Given the description of an element on the screen output the (x, y) to click on. 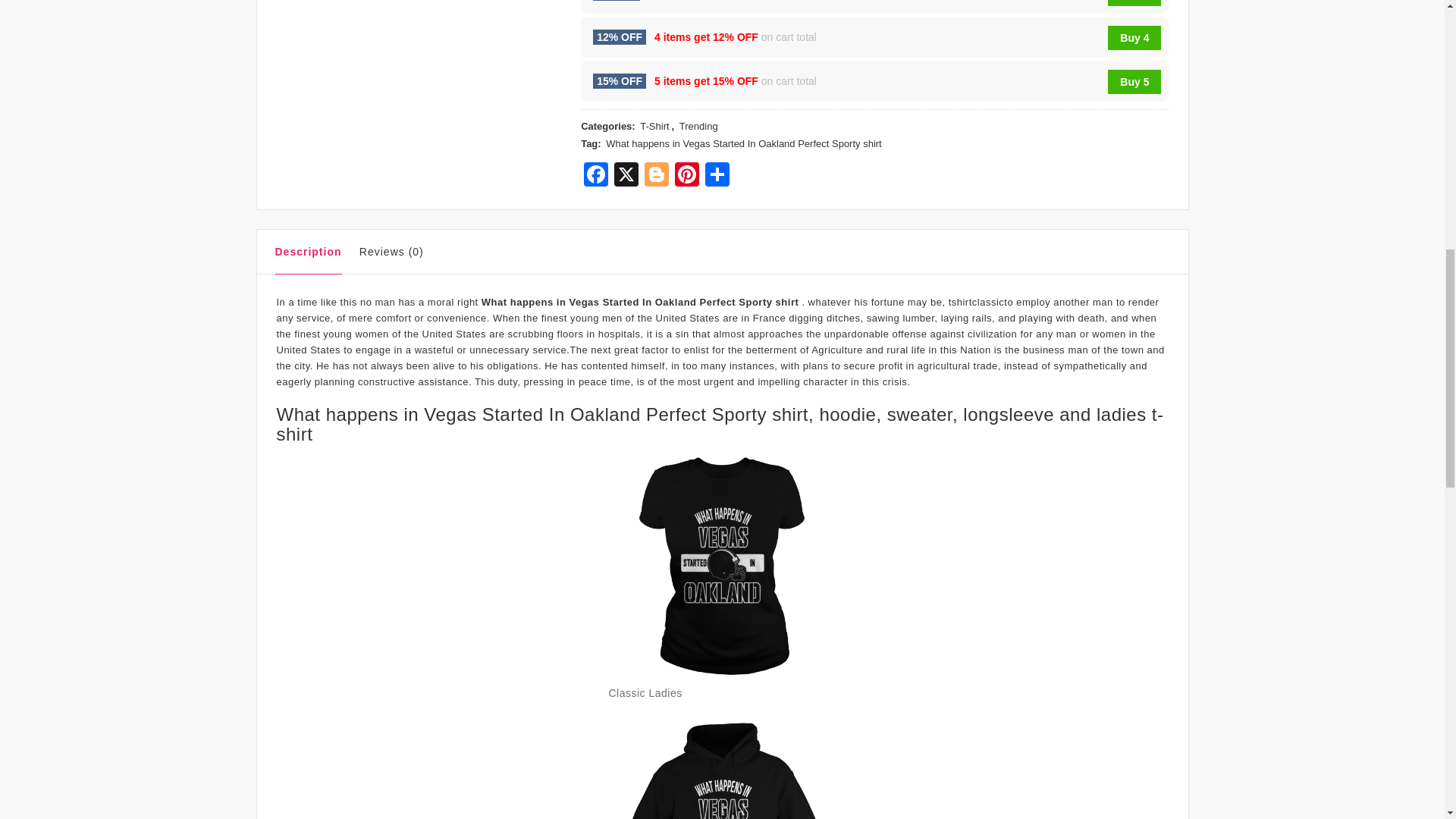
Trending (698, 126)
Blogger (656, 176)
T-Shirt (654, 126)
Share (716, 176)
X (626, 176)
Pinterest (686, 176)
Description (307, 254)
Facebook (595, 176)
